Given the description of an element on the screen output the (x, y) to click on. 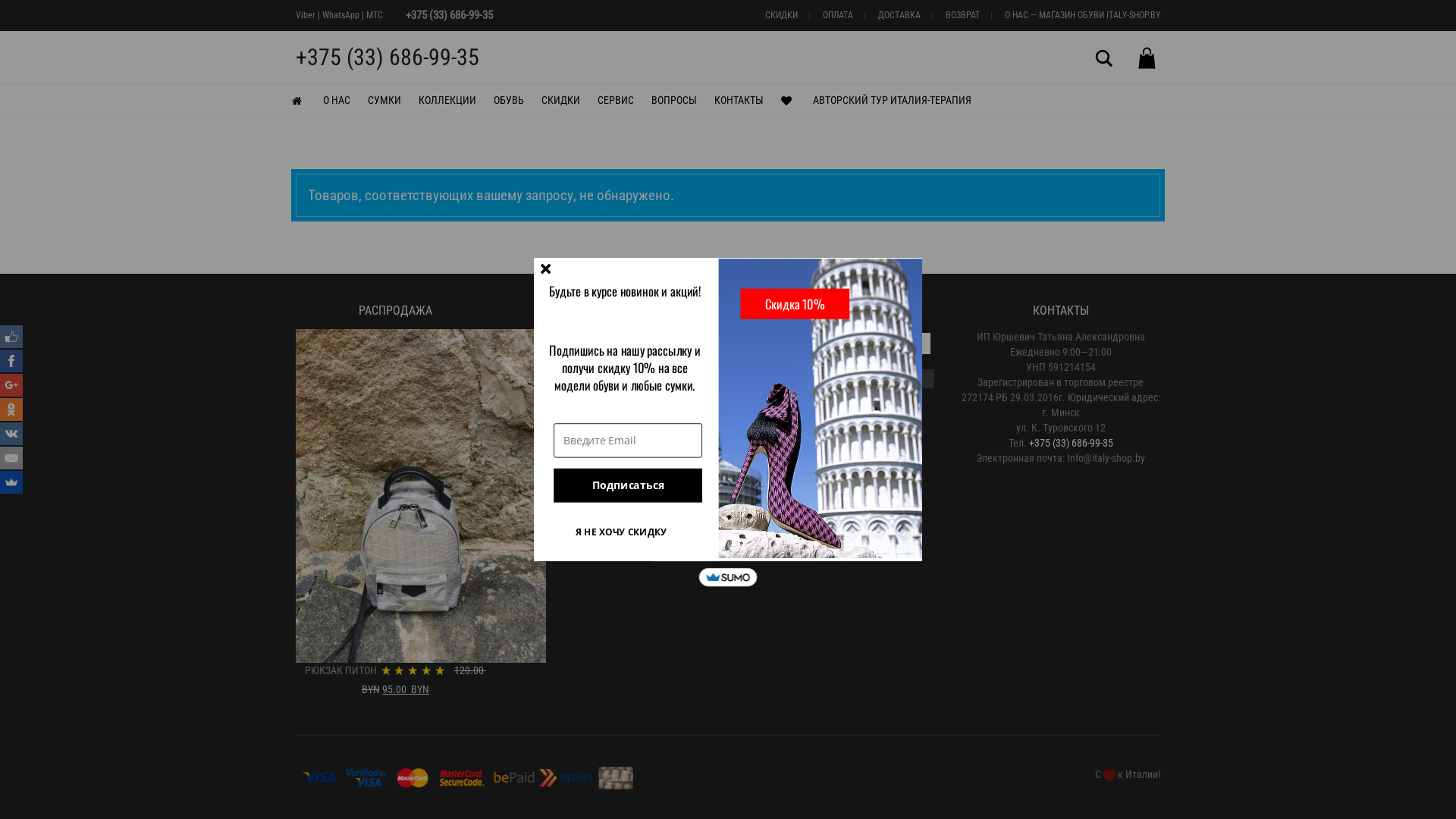
+375 (33) 686-99-35 Element type: text (1071, 442)
SumoMe Element type: hover (11, 481)
VKontakte Element type: hover (11, 433)
Instagram Element type: hover (770, 431)
+375 (33) 686-99-35 Element type: text (387, 57)
VKontakte Element type: hover (792, 431)
Facebook Like Element type: hover (11, 336)
Google+ Element type: hover (11, 384)
Facebook Element type: hover (11, 360)
Email Element type: hover (11, 457)
+375 (33) 686-99-35 Element type: text (448, 14)
YouTube Element type: hover (814, 431)
Odnoklassniki Element type: hover (11, 409)
Facebook Element type: hover (748, 431)
